Given the description of an element on the screen output the (x, y) to click on. 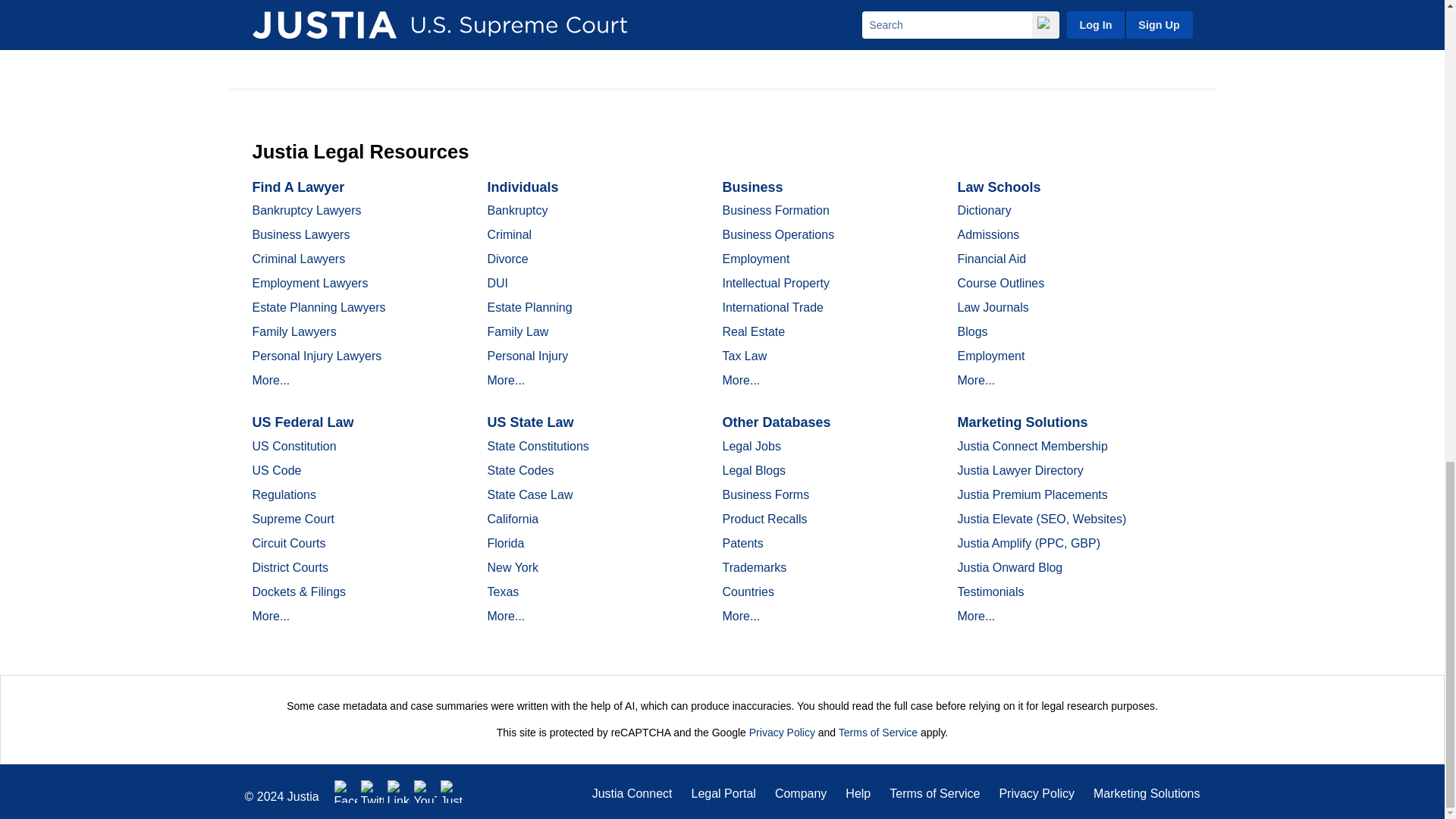
Justia Lawyer Directory (452, 791)
YouTube (424, 791)
Facebook (345, 791)
Twitter (372, 791)
LinkedIn (398, 791)
